Given the description of an element on the screen output the (x, y) to click on. 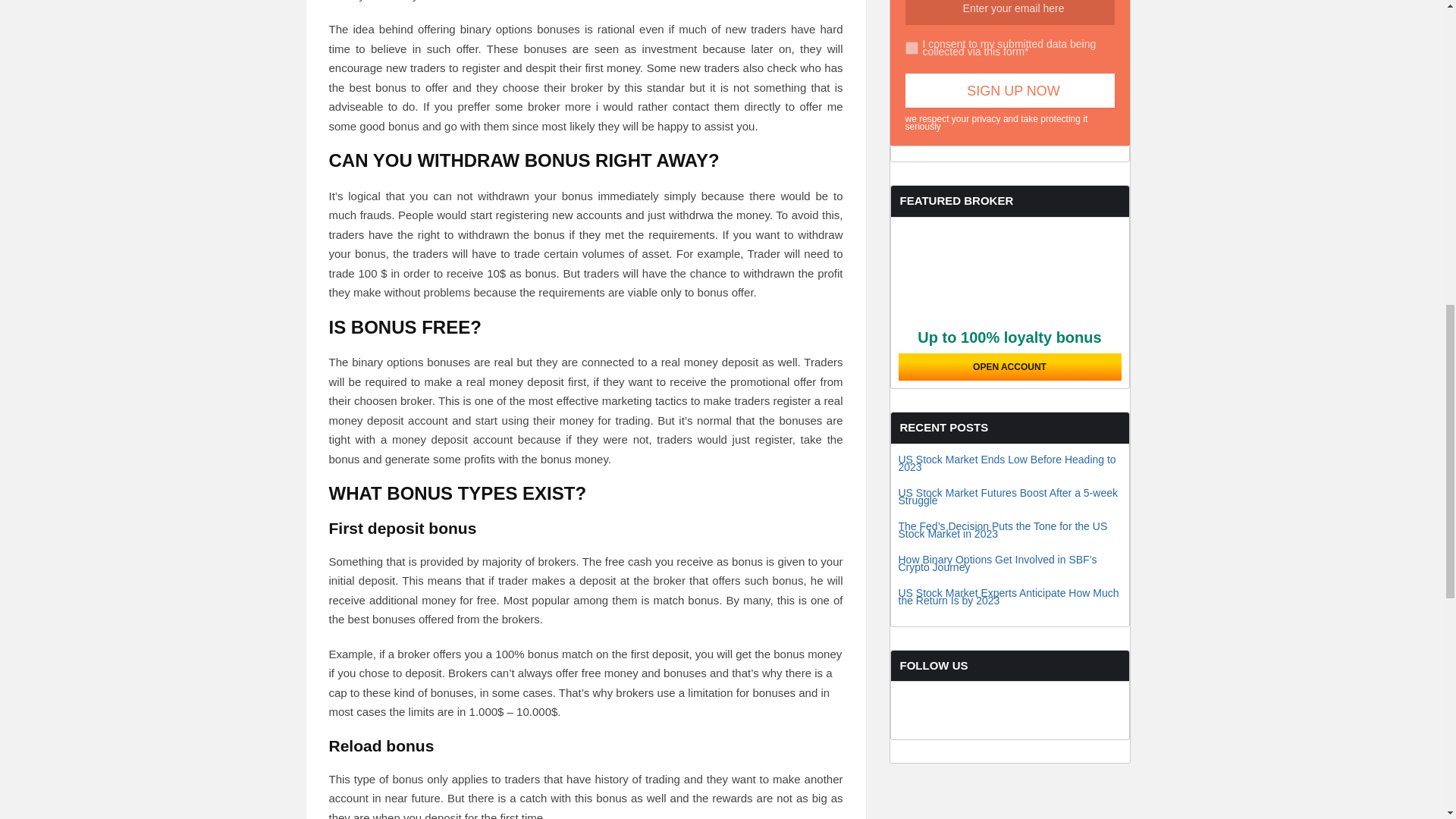
on (911, 47)
Enter your email here (1010, 12)
Follow us on Facebook (926, 730)
Follow us on Twitter (984, 730)
Sign Up Now (1010, 90)
